Given the description of an element on the screen output the (x, y) to click on. 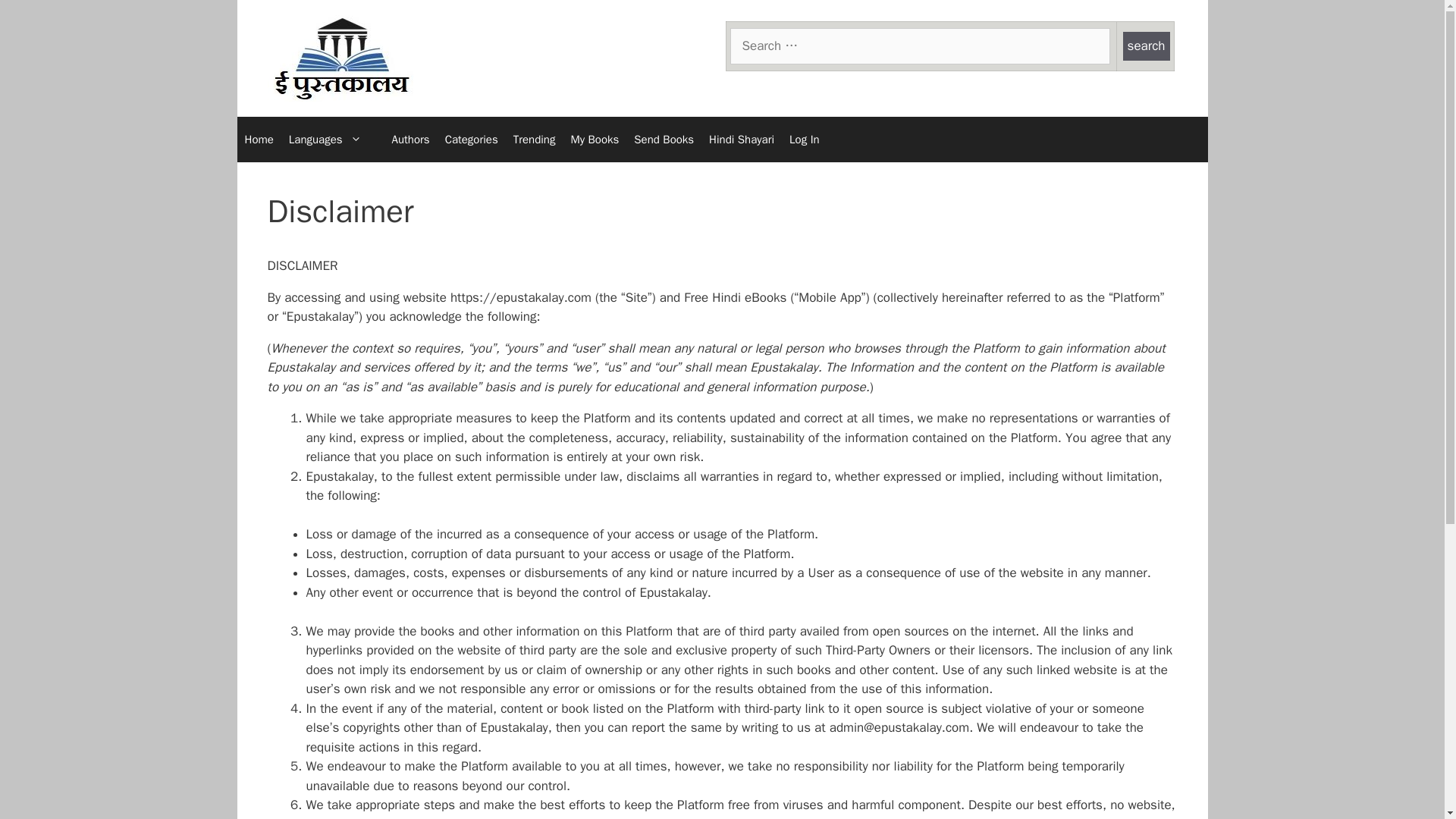
Send Books (663, 139)
search (1146, 45)
Languages (332, 139)
Trending (534, 139)
Authors (411, 139)
My Books (594, 139)
search (1146, 45)
search (919, 45)
Home (258, 139)
Categories (471, 139)
